Given the description of an element on the screen output the (x, y) to click on. 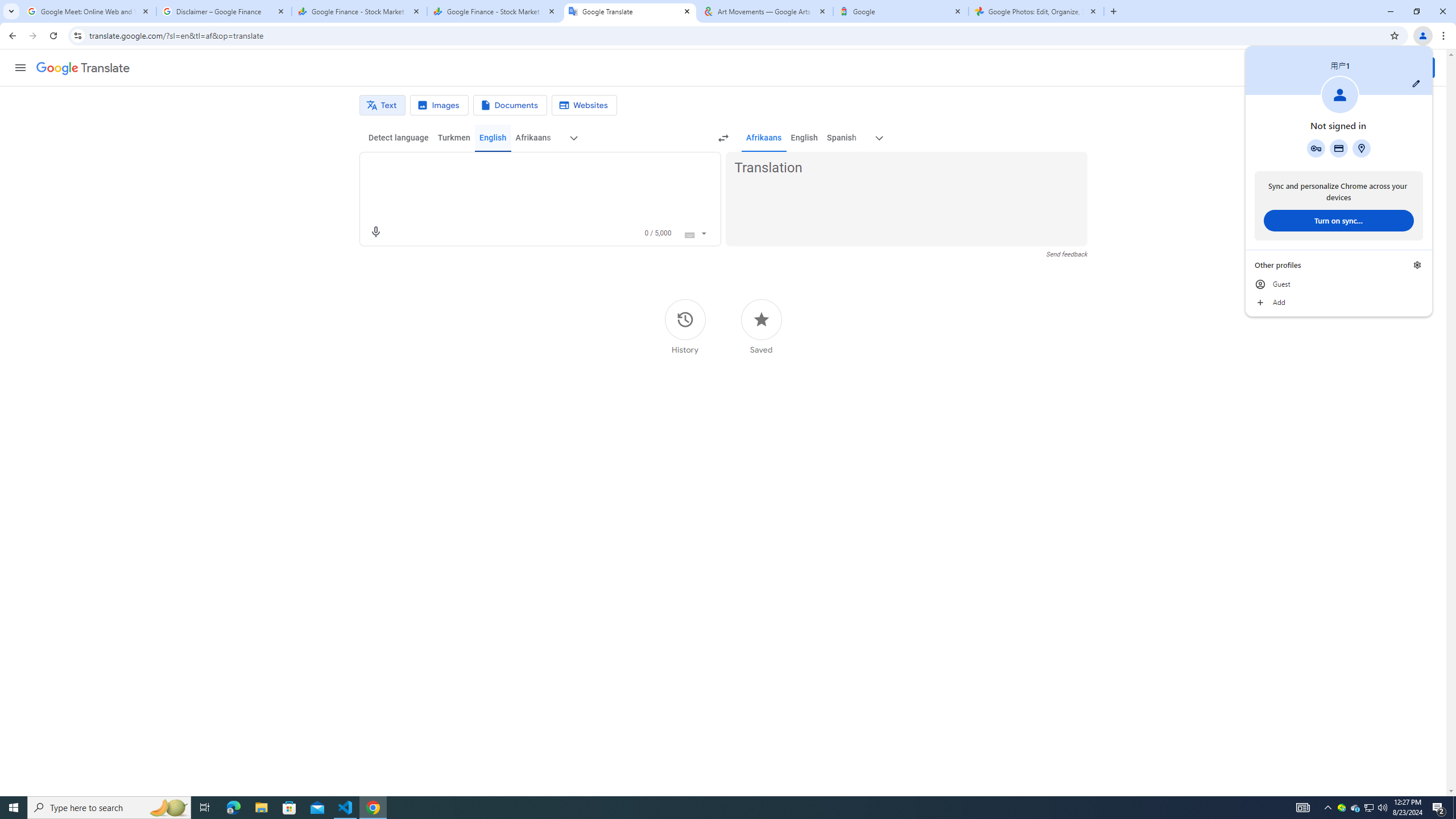
Text translation (382, 105)
Image translation (439, 105)
Document translation (510, 105)
Manage profiles (1417, 265)
Show desktop (1454, 807)
Task View (204, 807)
Q2790: 100% (1382, 807)
Source text (529, 167)
User Promoted Notification Area (1368, 807)
Swap languages (Ctrl+Shift+S) (723, 137)
